Given the description of an element on the screen output the (x, y) to click on. 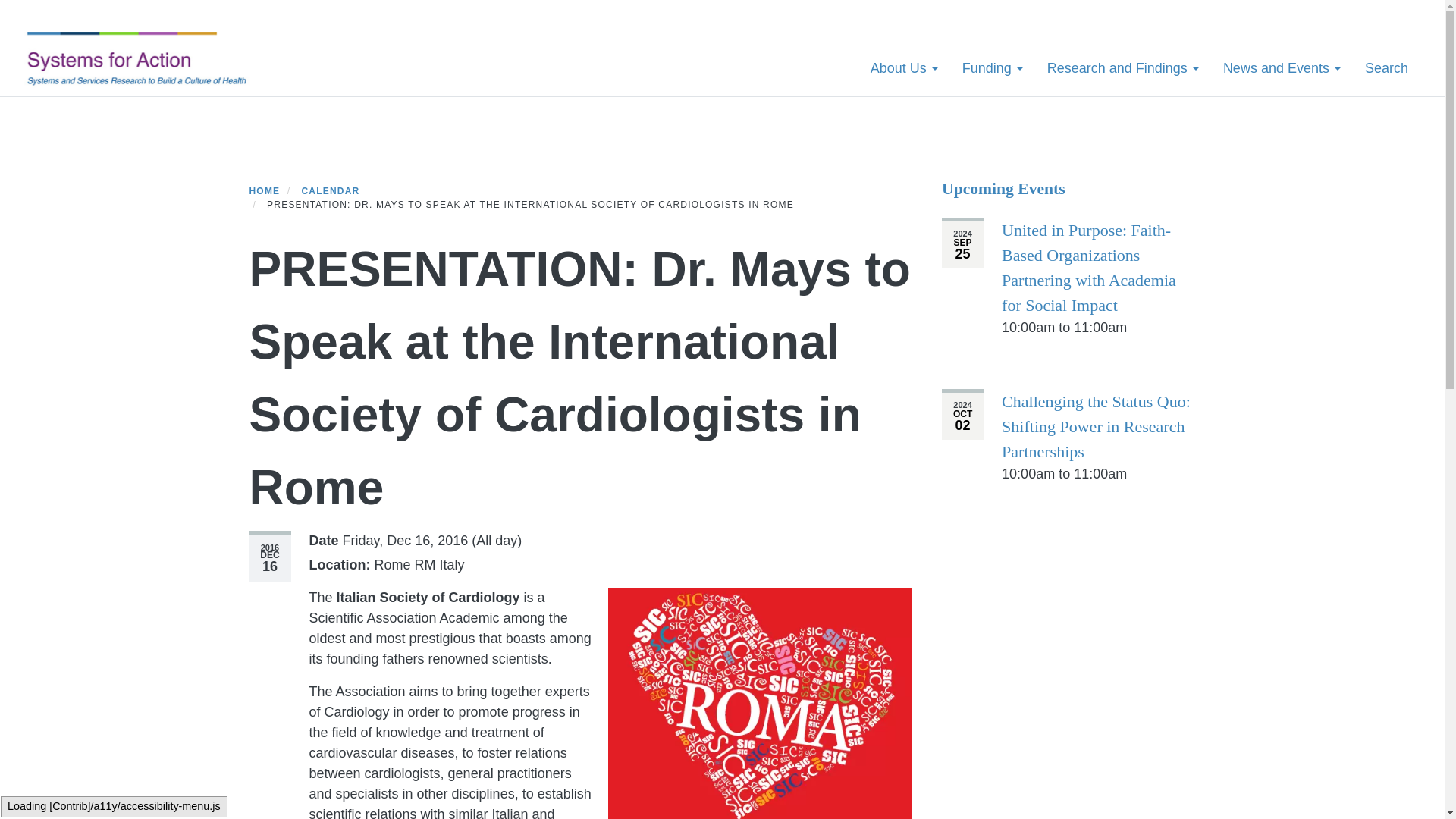
Research and Findings (1123, 67)
About Us (904, 67)
News and Events (1281, 67)
Funding (992, 67)
Search (1386, 67)
Systems for Action (147, 59)
